Given the description of an element on the screen output the (x, y) to click on. 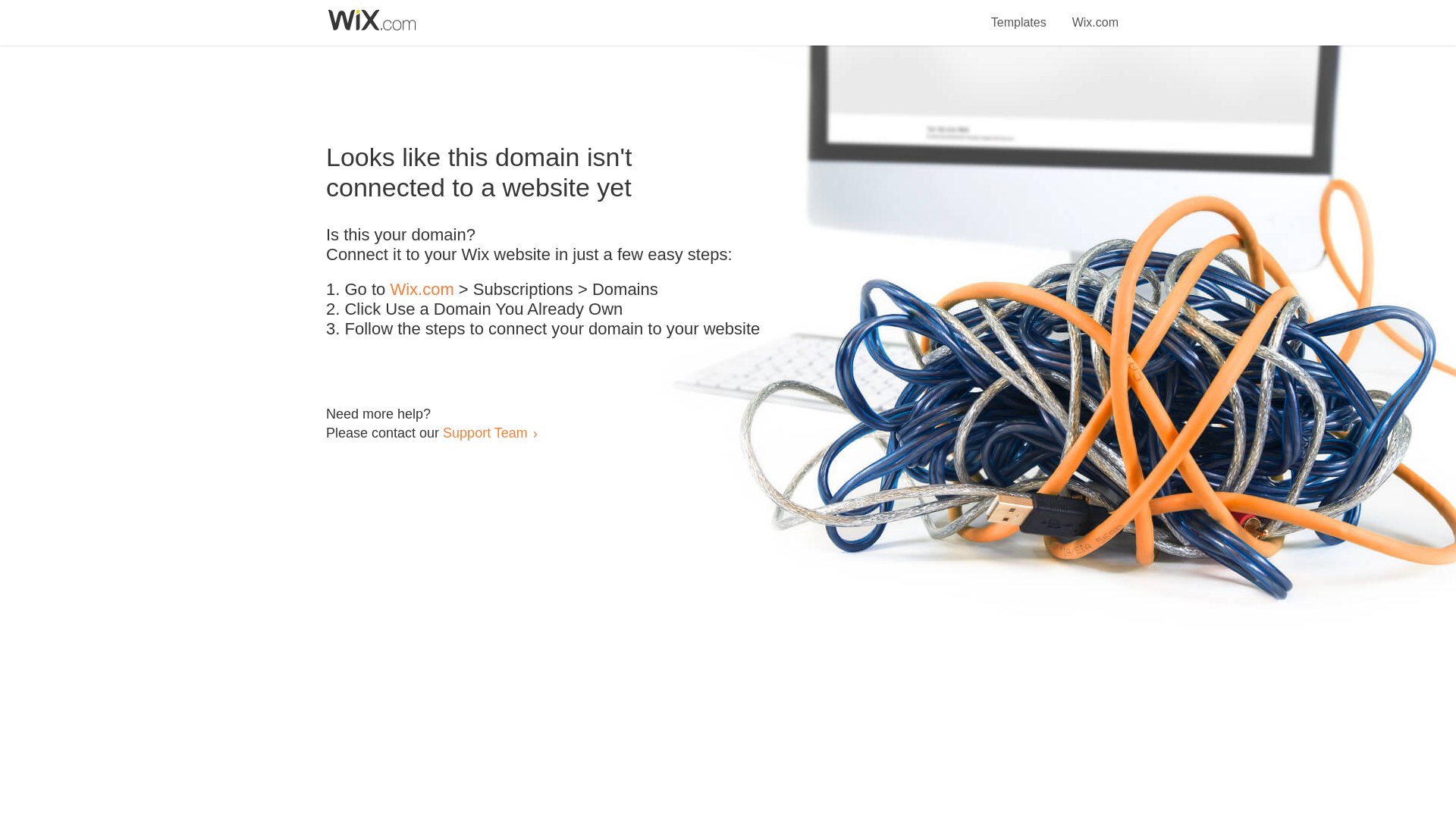
Wix.com (1095, 14)
Wix.com (421, 289)
Templates (1018, 14)
Support Team (484, 432)
